Given the description of an element on the screen output the (x, y) to click on. 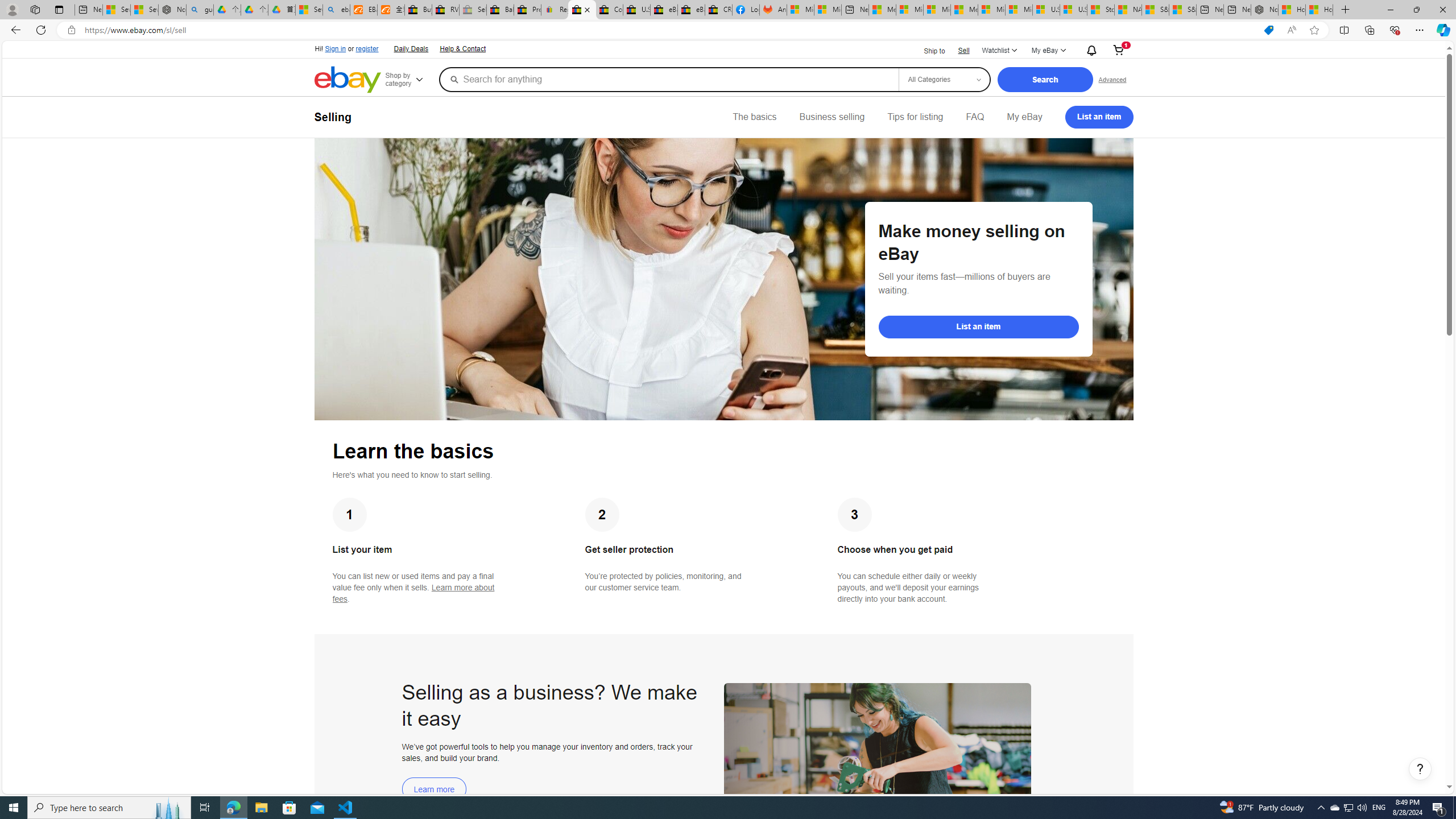
Selling on eBay | Electronics, Fashion, Home & Garden | eBay (581, 9)
Your shopping cart contains 1 item (1118, 50)
eBay Home (347, 79)
FAQ (974, 116)
My eBayExpand My eBay (1048, 50)
Shop by category (410, 79)
